Given the description of an element on the screen output the (x, y) to click on. 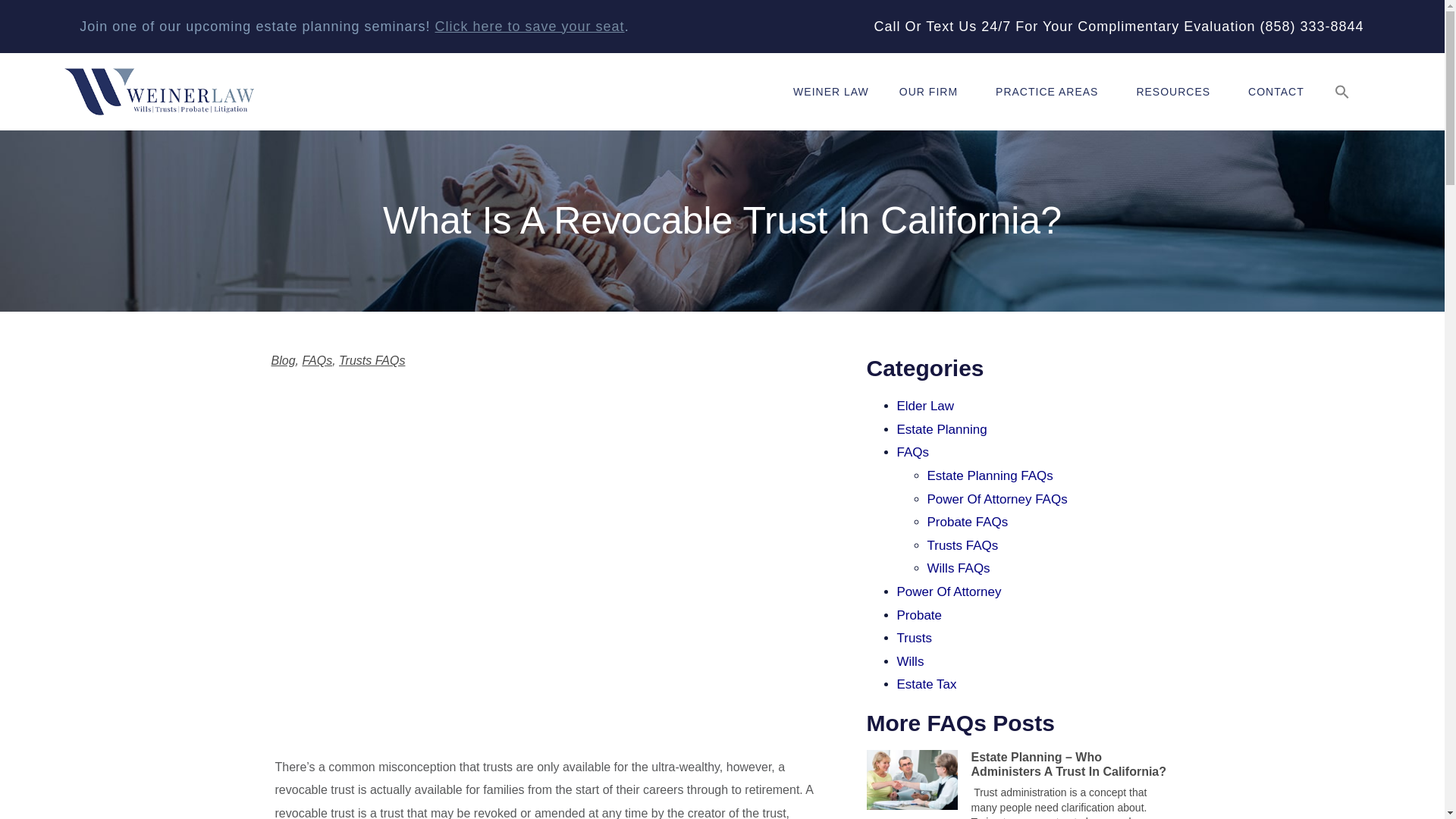
PRACTICE AREAS (1050, 91)
RESOURCES (1177, 91)
CONTACT (1276, 91)
OUR FIRM (931, 91)
WEINER LAW (830, 91)
Click here to save your seat (529, 26)
